Given the description of an element on the screen output the (x, y) to click on. 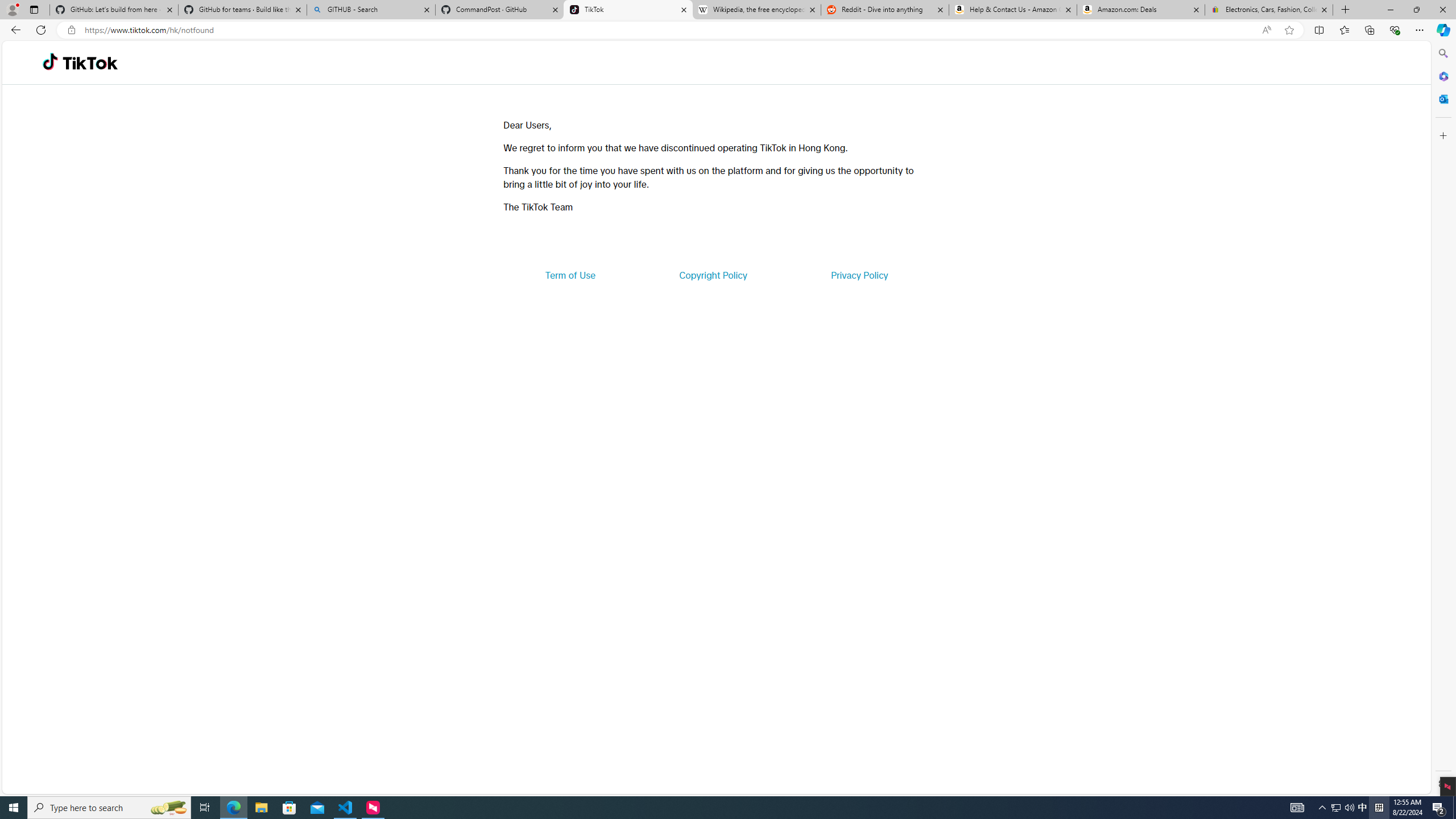
TikTok (89, 62)
Term of Use (569, 274)
